Given the description of an element on the screen output the (x, y) to click on. 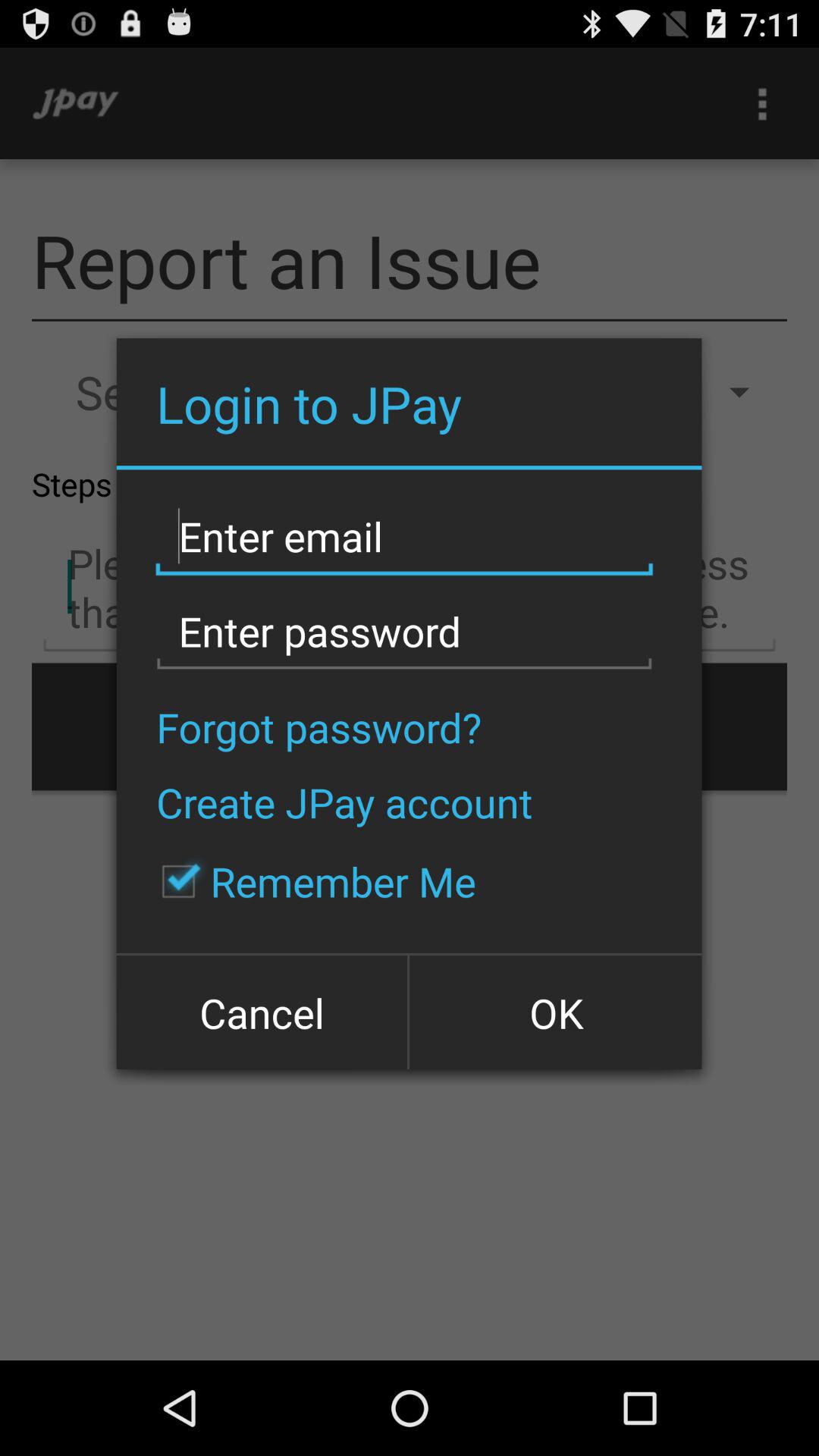
scroll to cancel item (263, 1011)
